Given the description of an element on the screen output the (x, y) to click on. 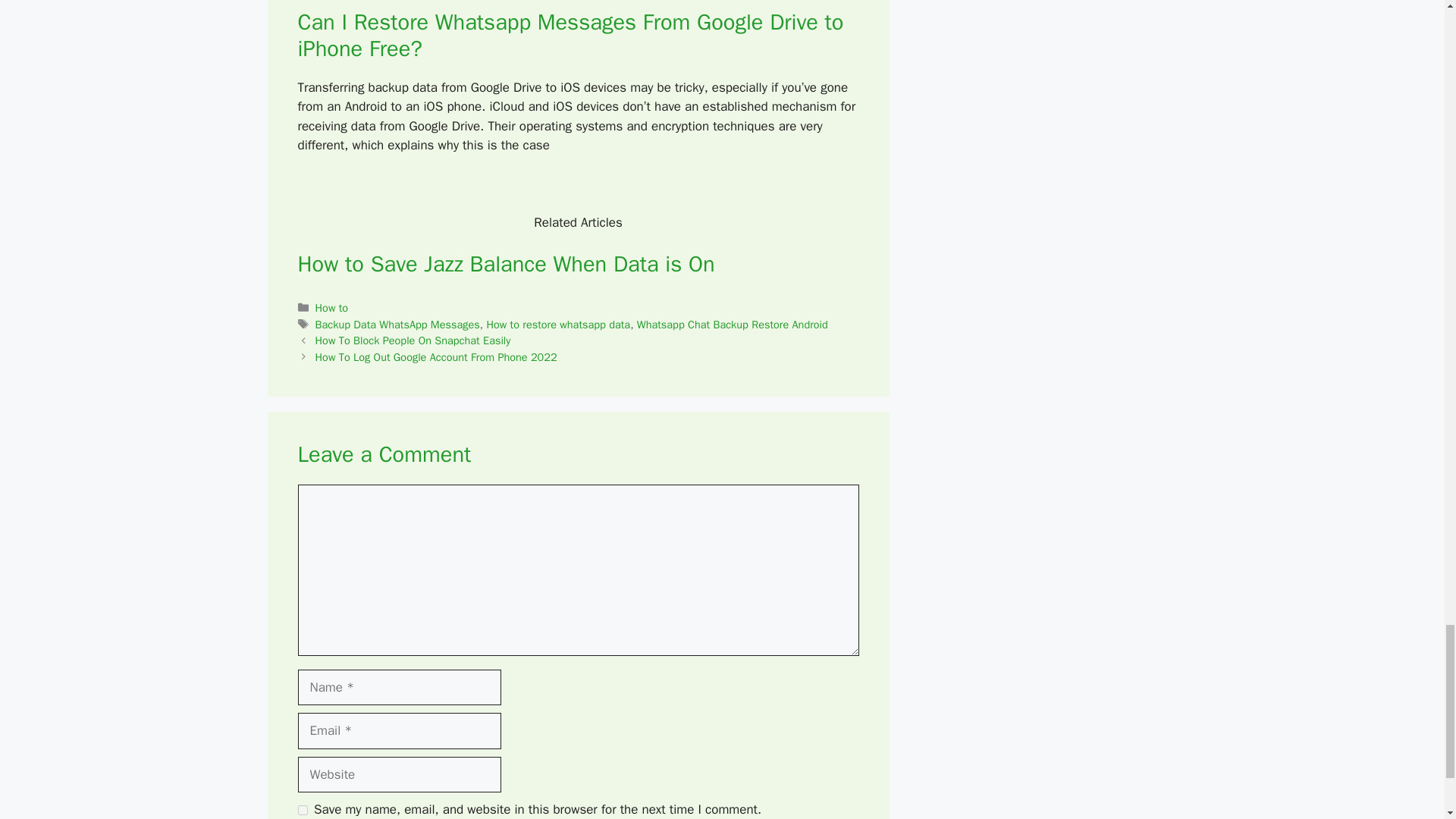
yes (302, 809)
Backup Data WhatsApp Messages (397, 324)
How to (332, 307)
How to Save Jazz Balance When Data is On (505, 264)
